Given the description of an element on the screen output the (x, y) to click on. 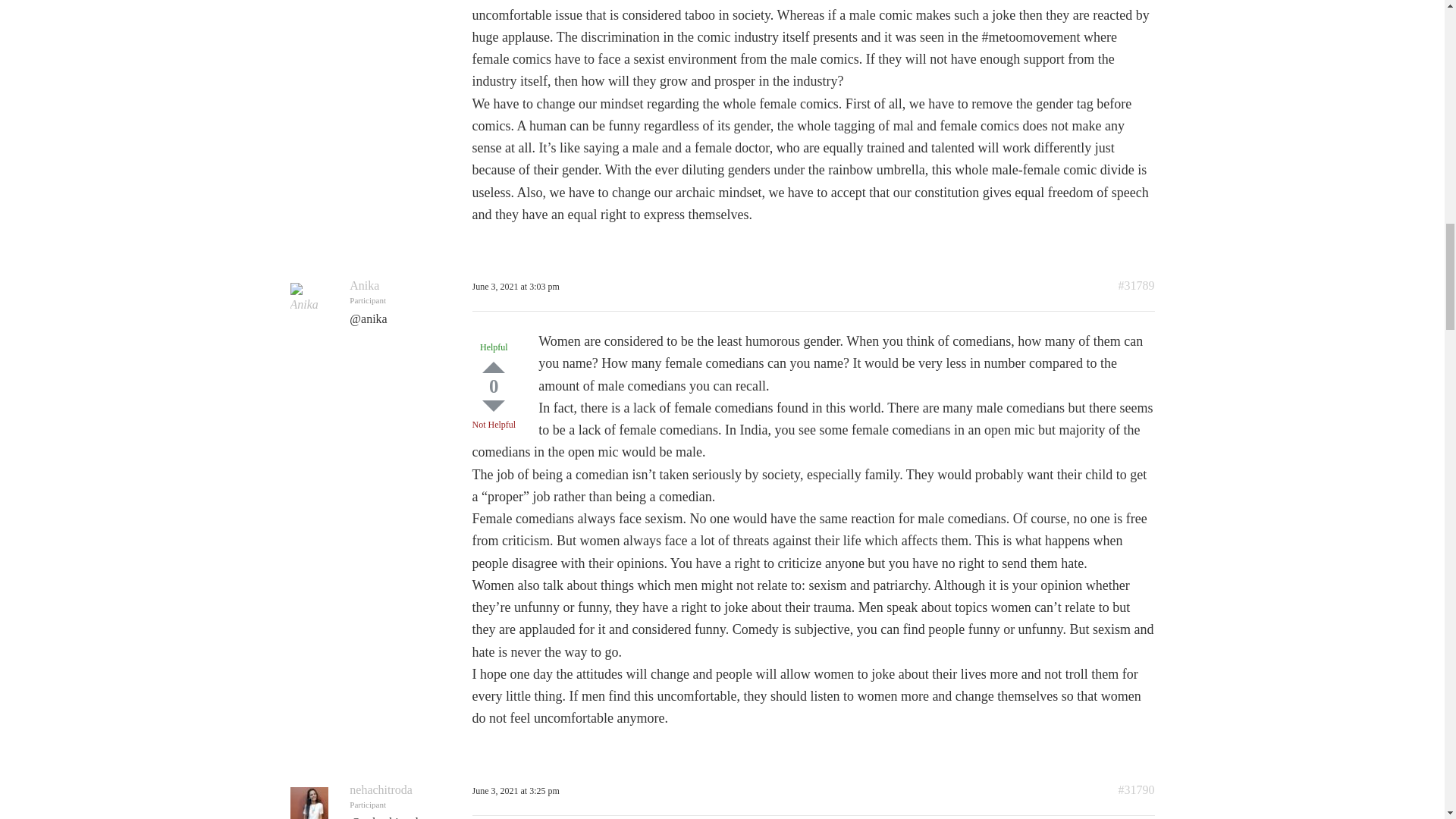
View nehachitroda's profile (380, 789)
View Anika's profile (363, 285)
